Given the description of an element on the screen output the (x, y) to click on. 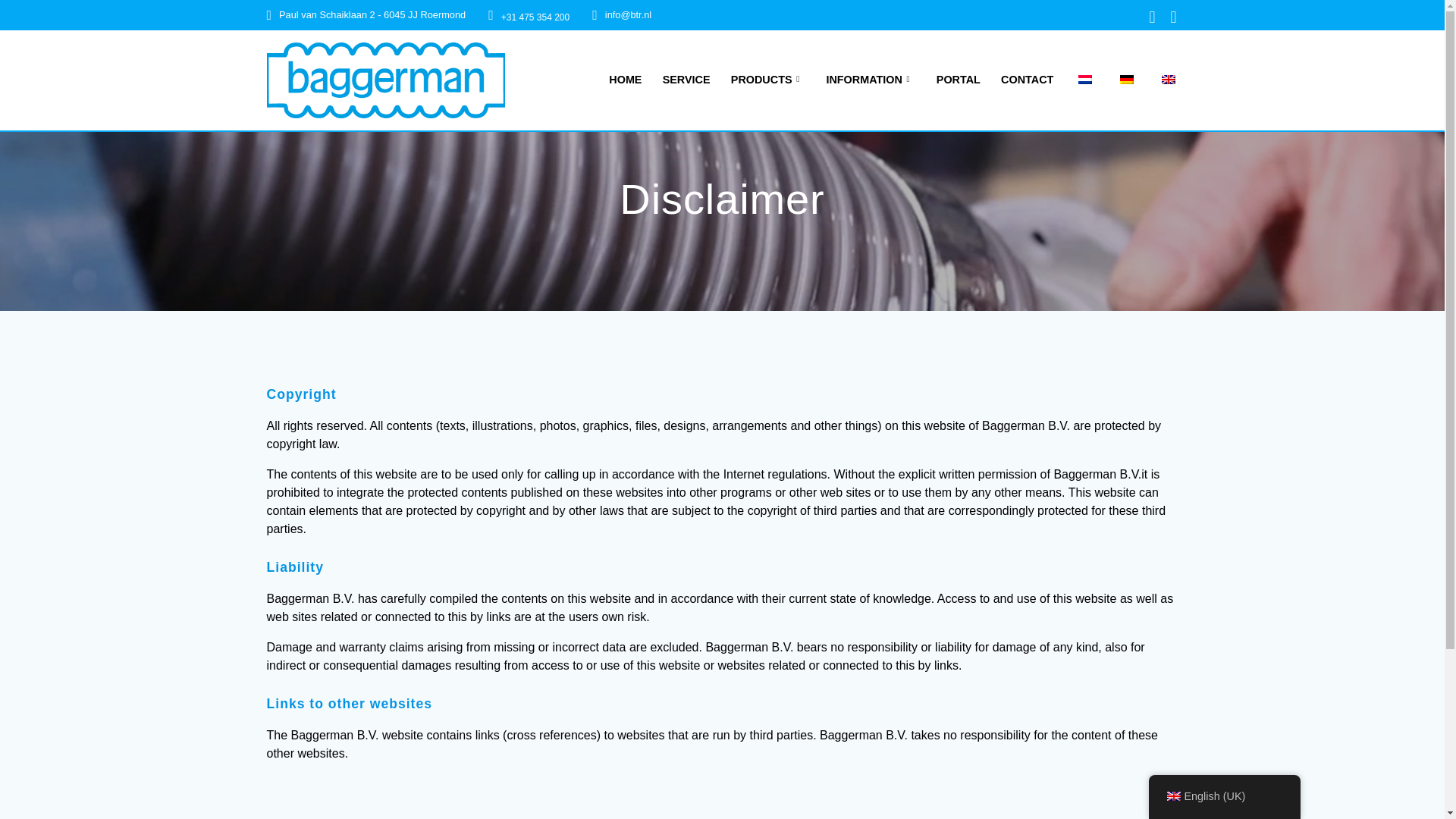
Nederlands (1085, 79)
PRODUCTS (767, 79)
HOME (625, 79)
Deutsch (1126, 79)
Paul van Schaiklaan 2 - 6045 JJ Roermond (372, 14)
SERVICE (686, 79)
